Given the description of an element on the screen output the (x, y) to click on. 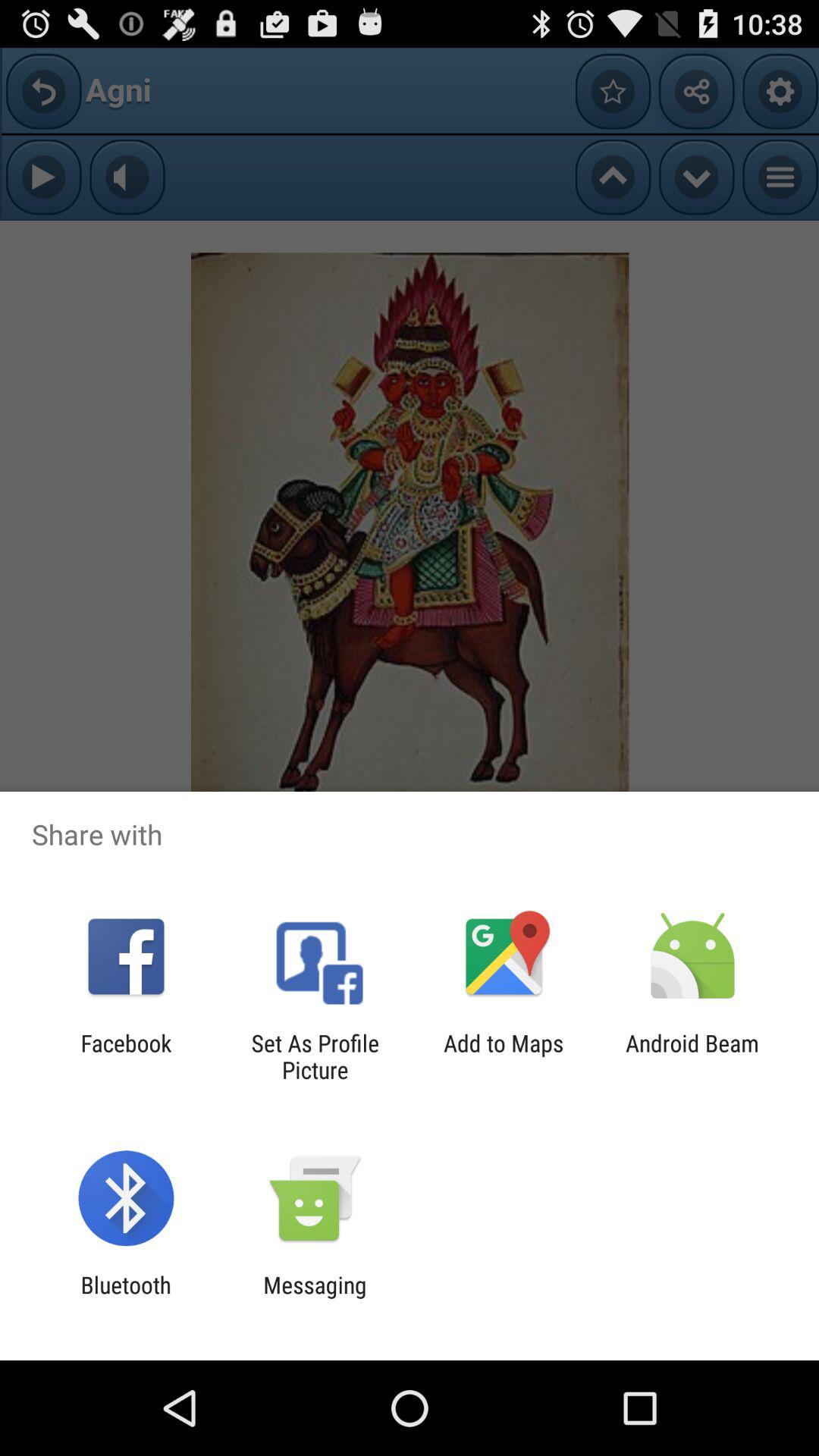
launch the icon to the left of the add to maps icon (314, 1056)
